Given the description of an element on the screen output the (x, y) to click on. 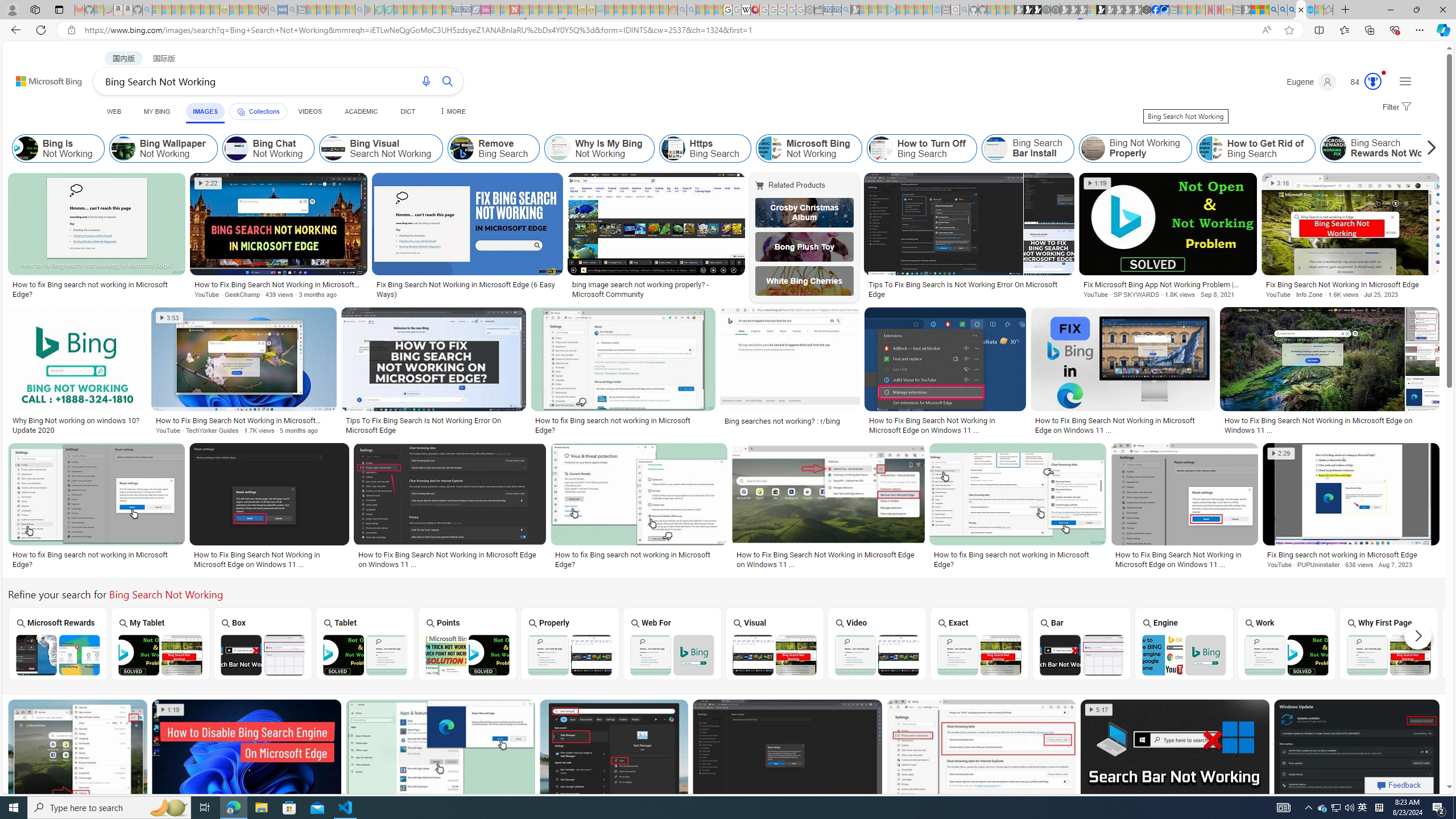
Bing Visual Search Not Working (774, 655)
Why Bing Not working on windows 10? Update 2020 (77, 425)
Bing Search Rewards Not Working (1388, 148)
2:22 (208, 183)
MediaWiki (754, 9)
Bing Search Box Not Working (262, 655)
WEB (114, 111)
Why First Page of Bing Search Not Working (1387, 655)
Fix Bing Search Not Working in Microsoft Edge (6 Easy Ways) (468, 289)
